Given the description of an element on the screen output the (x, y) to click on. 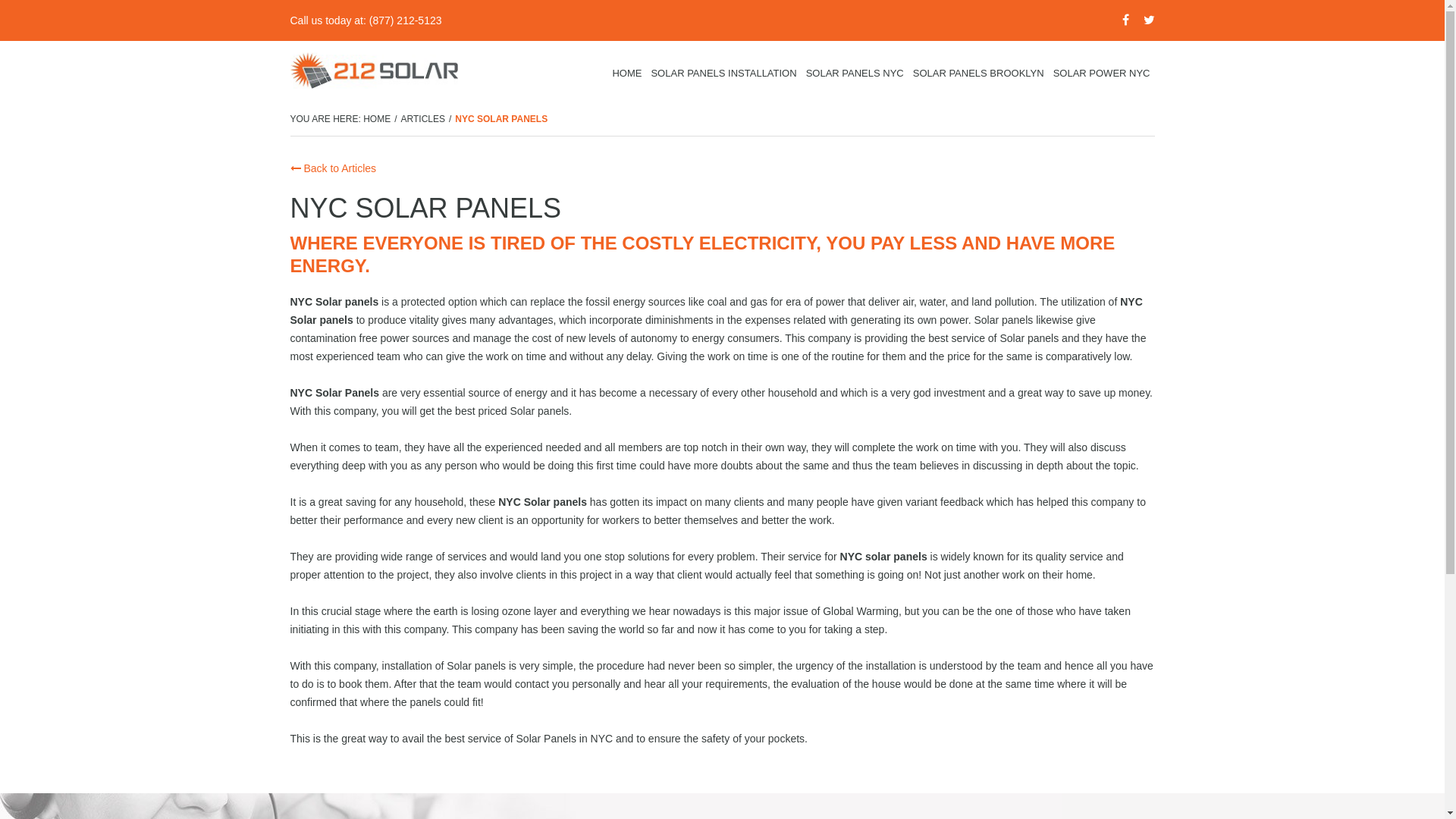
HOME Element type: text (376, 118)
ARTICLES Element type: text (423, 118)
Back to Articles Element type: text (332, 168)
SOLAR PANELS INSTALLATION Element type: text (723, 73)
SOLAR PANELS NYC Element type: text (854, 73)
HOME Element type: text (626, 73)
SOLAR POWER NYC Element type: text (1101, 73)
SOLAR PANELS BROOKLYN Element type: text (978, 73)
